Given the description of an element on the screen output the (x, y) to click on. 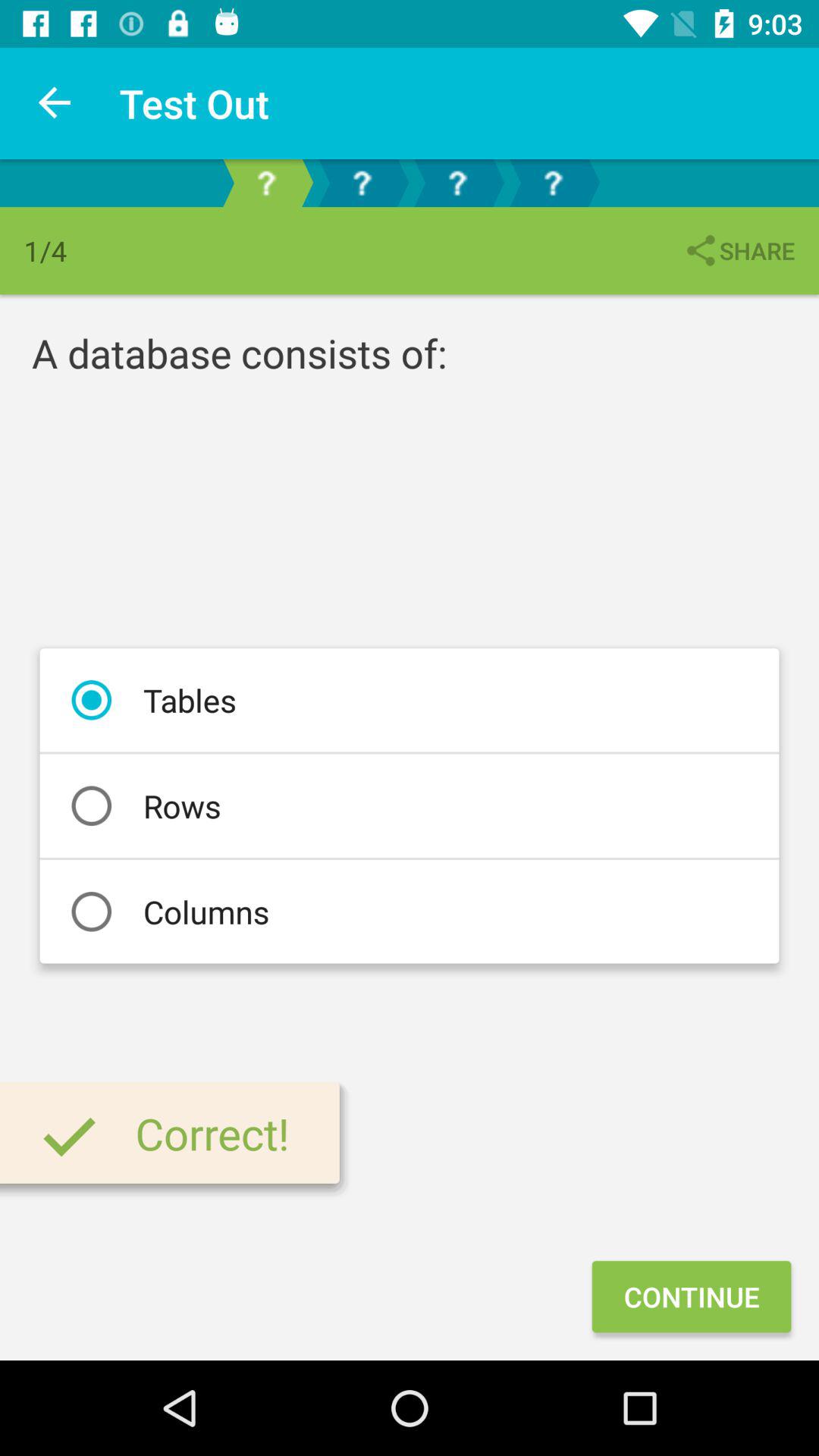
chats (361, 183)
